Given the description of an element on the screen output the (x, y) to click on. 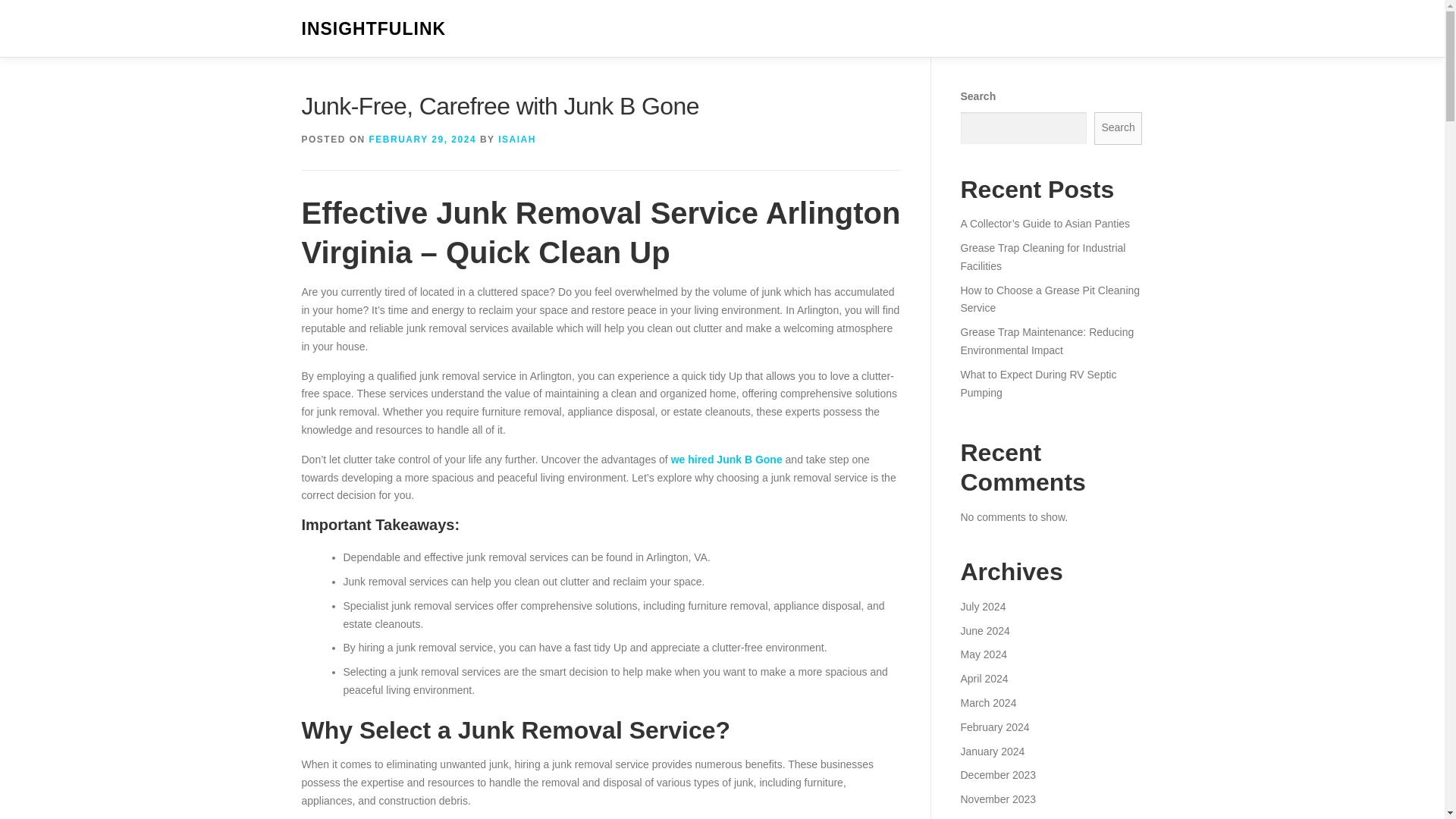
April 2024 (983, 678)
December 2023 (997, 775)
we hired Junk B Gone (727, 459)
June 2024 (984, 630)
What to Expect During RV Septic Pumping (1037, 383)
INSIGHTFULINK (373, 29)
January 2024 (992, 750)
March 2024 (987, 702)
How to Choose a Grease Pit Cleaning Service (1049, 299)
FEBRUARY 29, 2024 (423, 139)
